Given the description of an element on the screen output the (x, y) to click on. 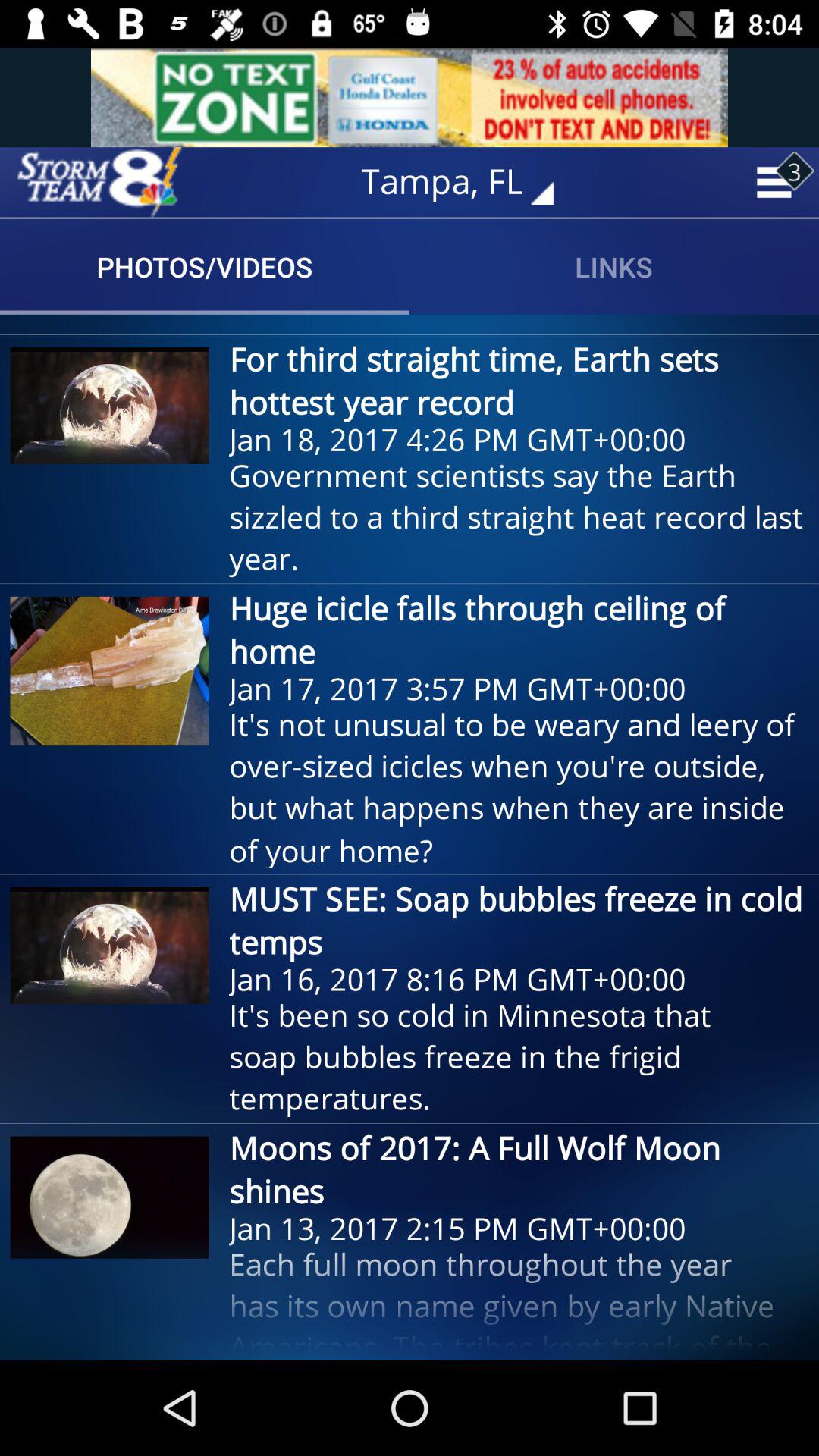
home (99, 182)
